Given the description of an element on the screen output the (x, y) to click on. 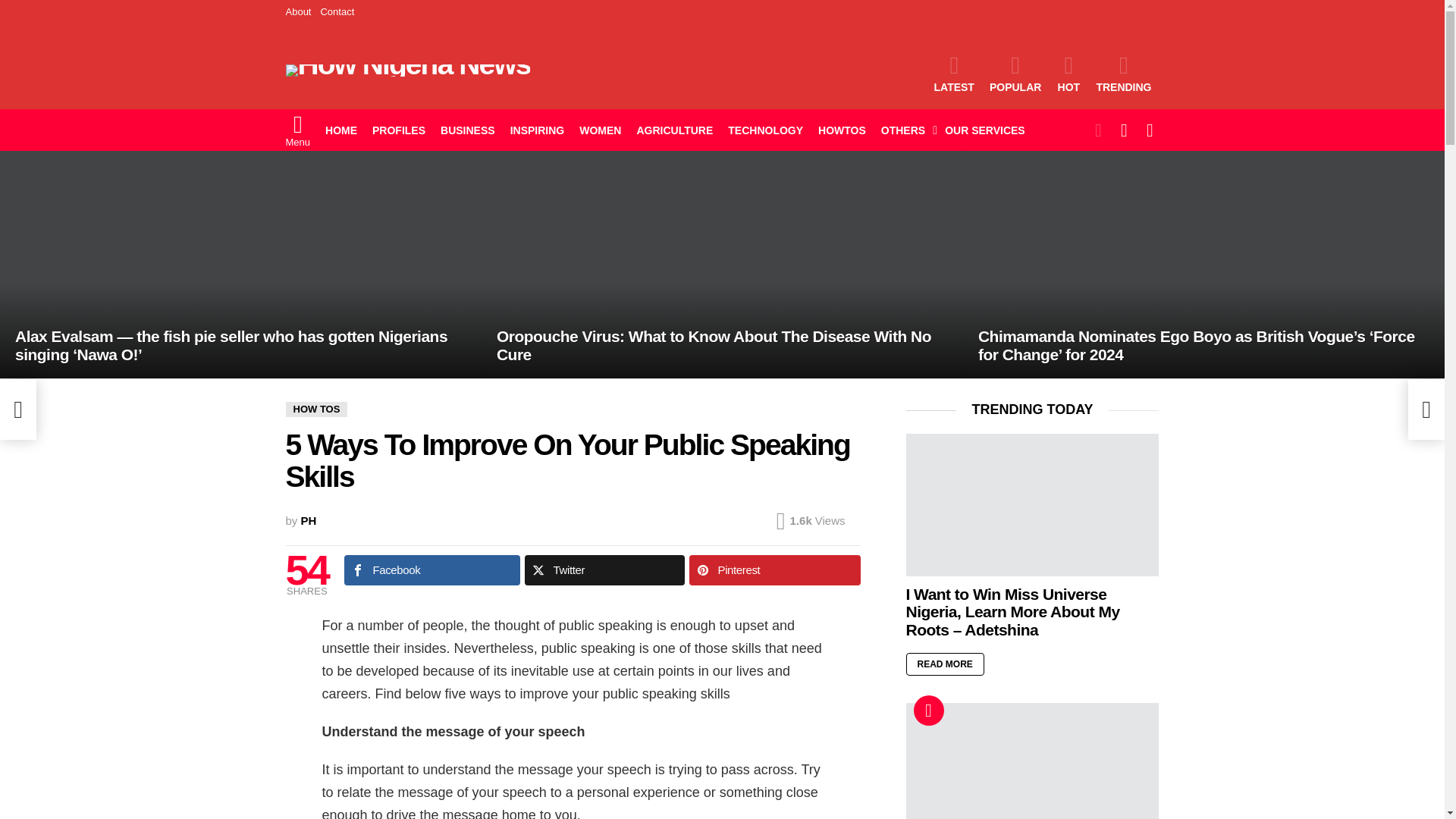
BUSINESS (467, 129)
LATEST (953, 73)
HOWTOS (841, 129)
INSPIRING (537, 129)
Contact (336, 12)
Oropouche Virus: What to Know About The Disease With No Cure (721, 264)
Posts by PH (309, 520)
About (298, 12)
POPULAR (1014, 73)
HOT (1067, 73)
